Given the description of an element on the screen output the (x, y) to click on. 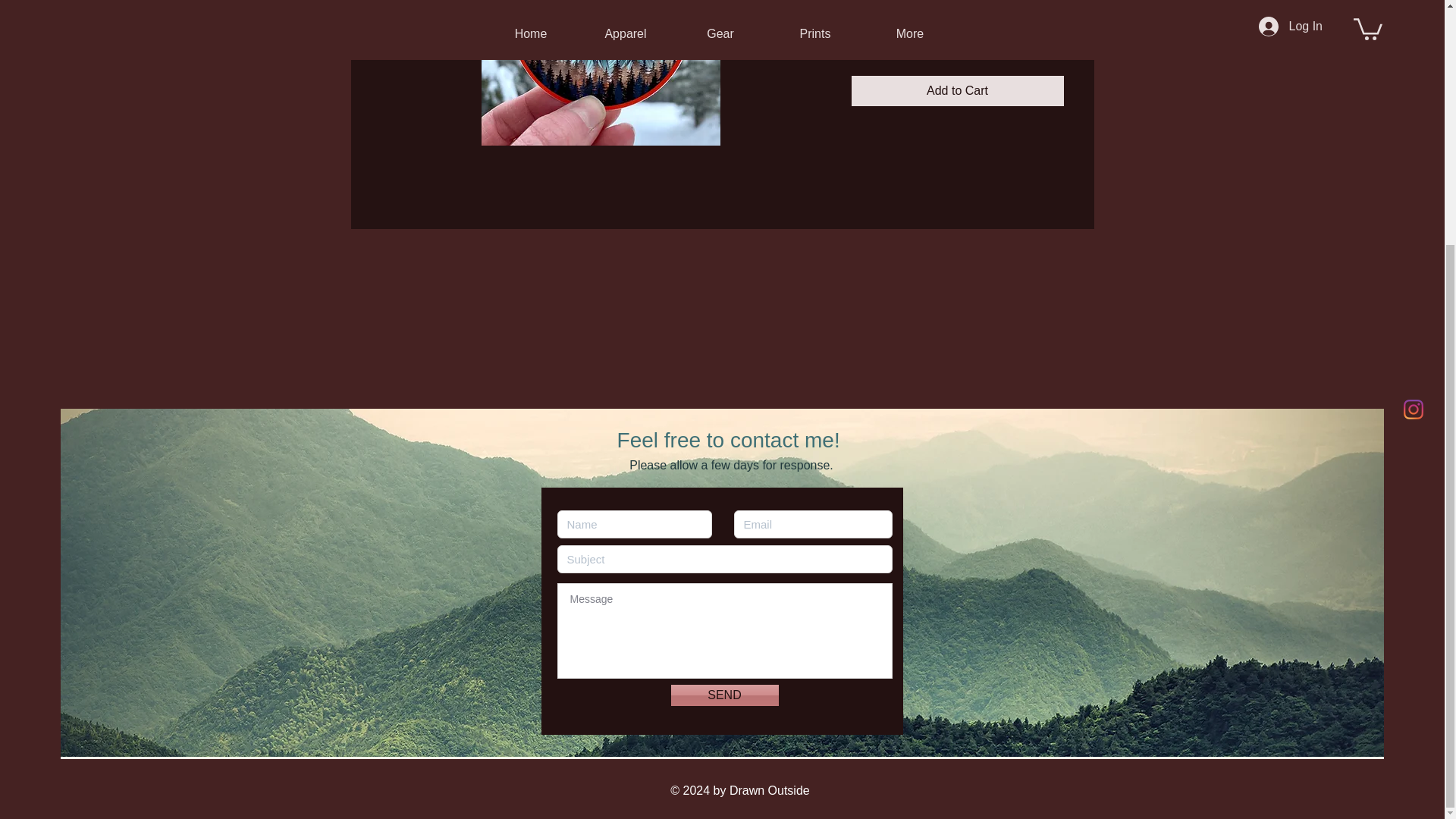
1 (879, 36)
SEND (723, 694)
Add to Cart (956, 91)
